Given the description of an element on the screen output the (x, y) to click on. 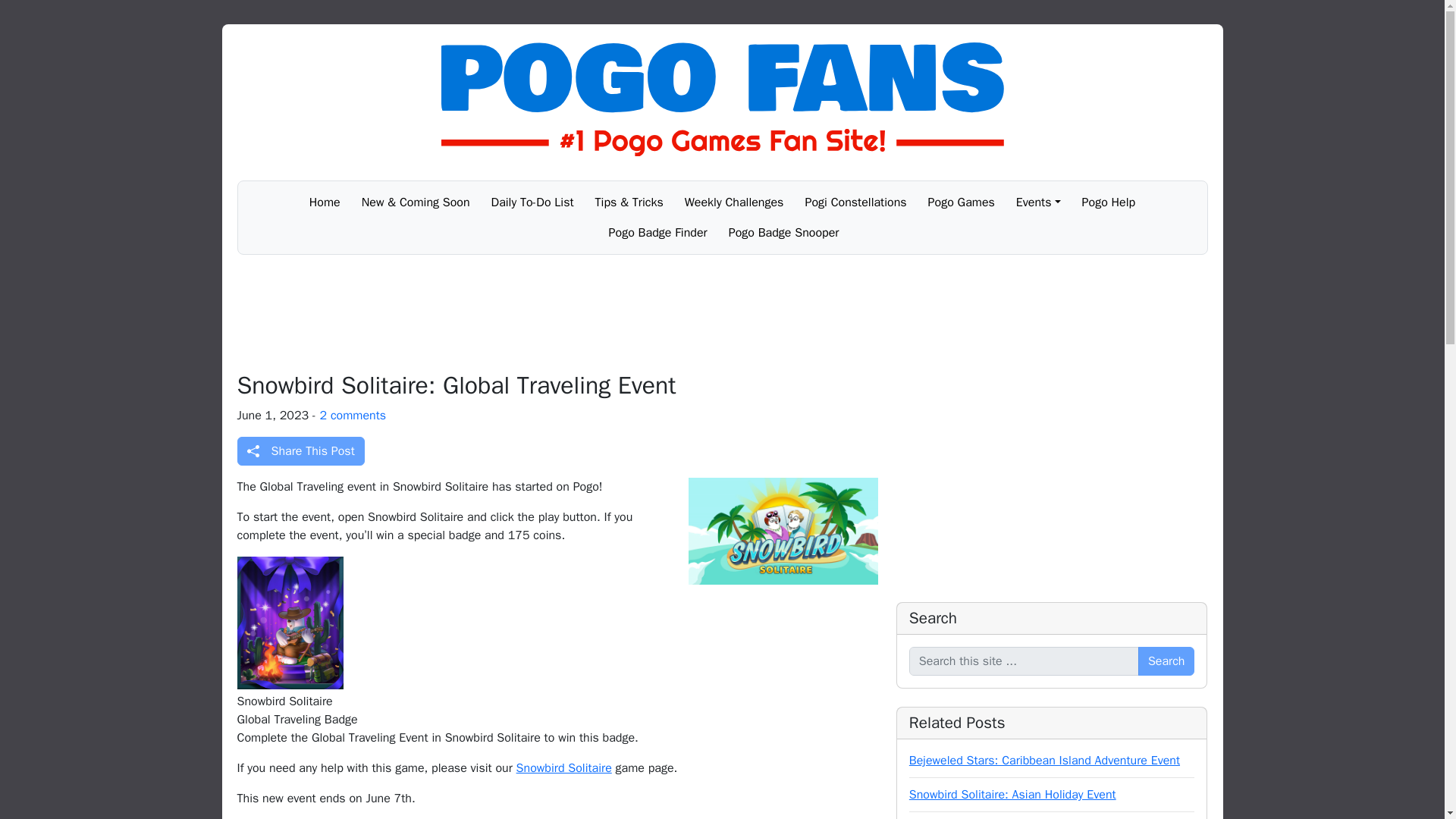
Advertisement (1052, 477)
Advertisement (721, 313)
Pogo Badge Finder (657, 232)
Bejeweled Stars: Caribbean Island Adventure Event (1043, 760)
2 comments (353, 415)
Home (324, 202)
Search (1166, 661)
Share This Post (299, 451)
Pogo Games (961, 202)
Snowbird Solitaire (563, 767)
Pogo Help (1108, 202)
Pogi Constellations (854, 202)
Weekly Challenges (734, 202)
Snowbird Solitaire: Asian Holiday Event (1012, 794)
Daily To-Do List (532, 202)
